Given the description of an element on the screen output the (x, y) to click on. 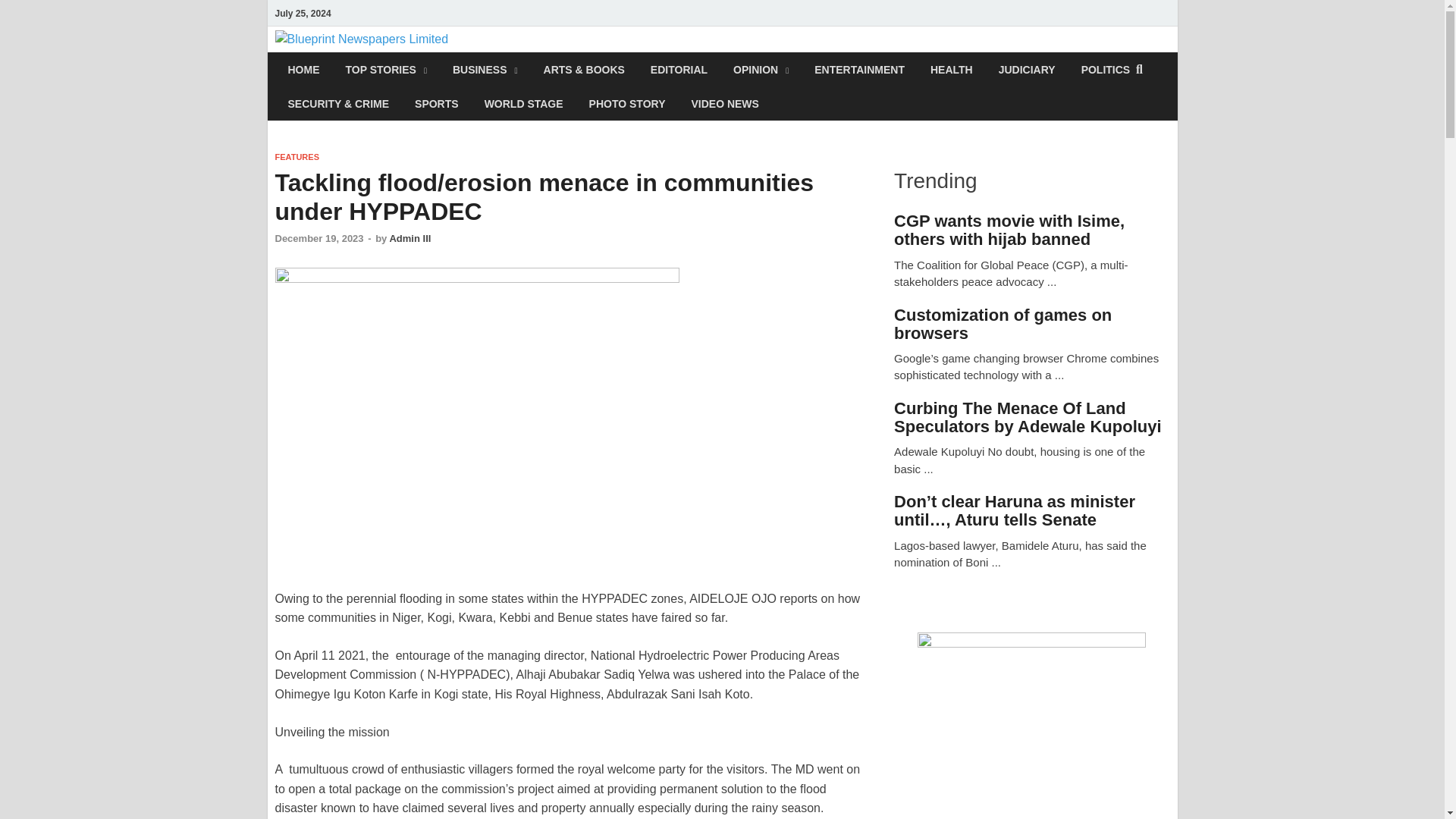
Blueprint Newspapers Limited (655, 60)
EDITORIAL (678, 69)
ENTERTAINMENT (859, 69)
HOME (303, 69)
BUSINESS (485, 69)
OPINION (761, 69)
TOP STORIES (385, 69)
